Given the description of an element on the screen output the (x, y) to click on. 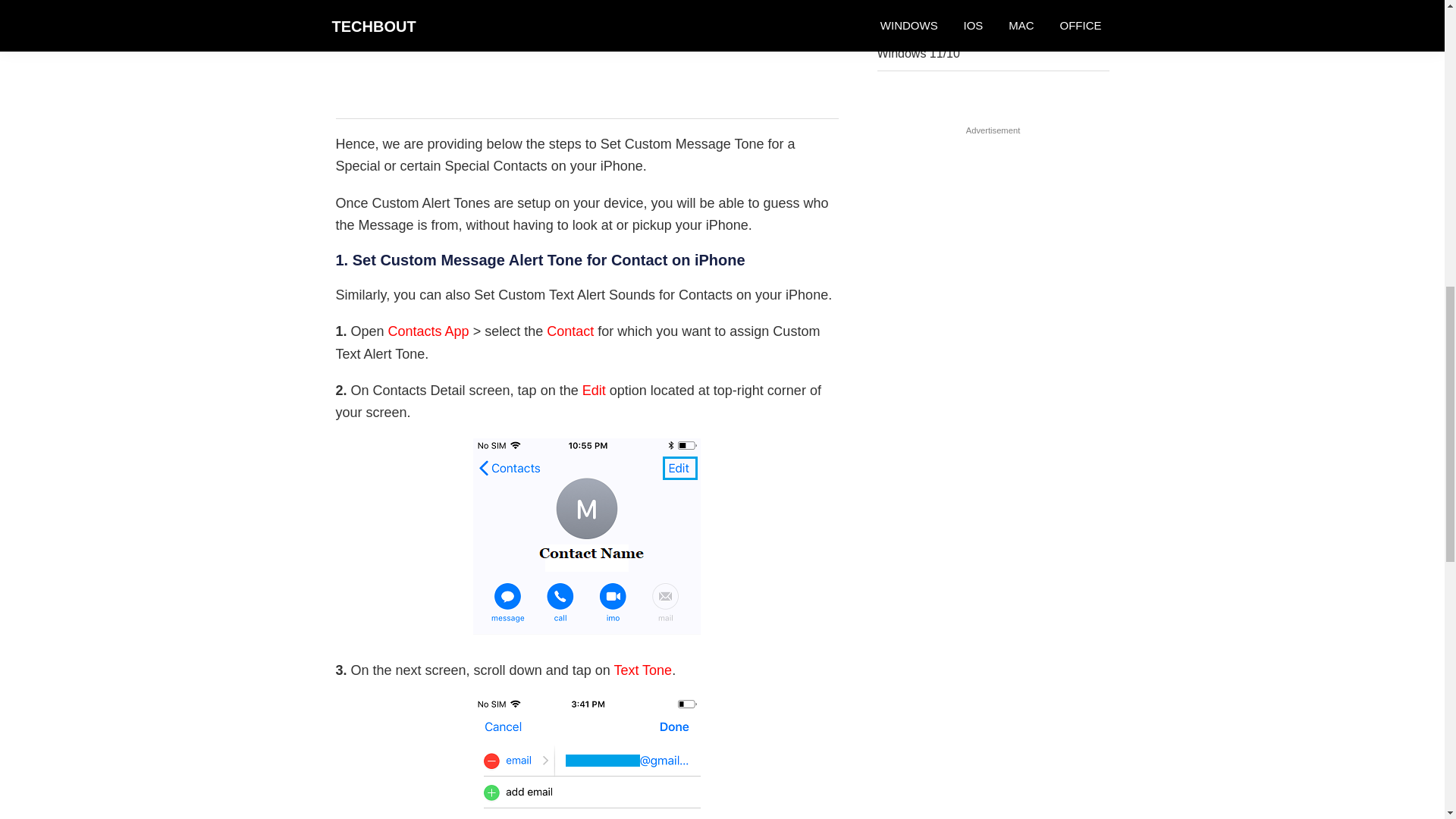
Edit Contact On iPhone (586, 537)
Advertisement (586, 58)
Change Text Tone For Contacts on iPhone (586, 757)
